Given the description of an element on the screen output the (x, y) to click on. 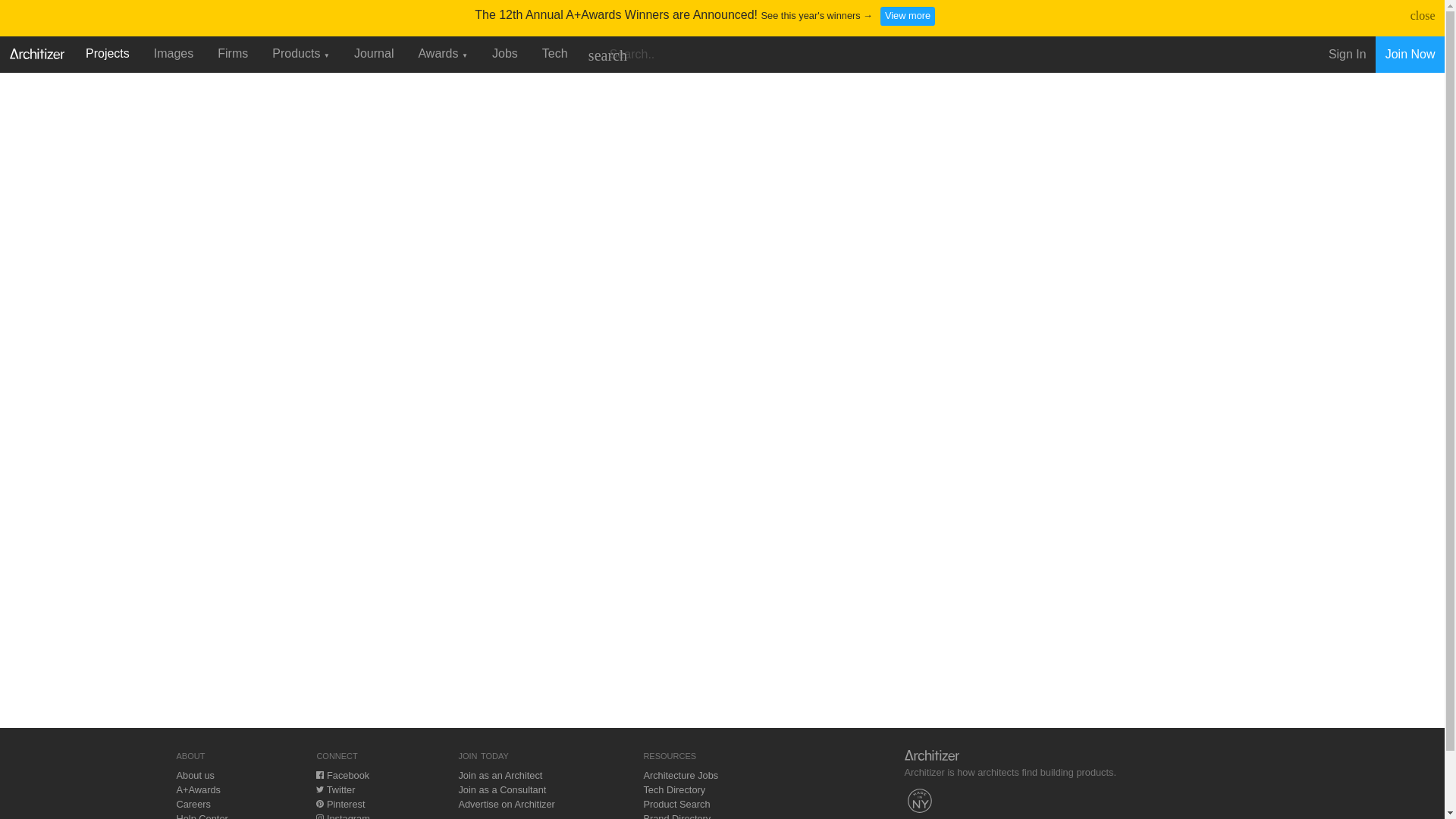
Twitter (335, 789)
Pinterest icon (319, 803)
Made in New York icon (919, 800)
Help Center (201, 816)
Twitter icon (319, 789)
Facebook (342, 775)
About us (195, 775)
Join as a Consultant (502, 789)
Journal (374, 53)
Images (173, 53)
Projects (107, 53)
close (1422, 15)
search (606, 55)
Instagram icon (319, 816)
Pinterest (340, 803)
